Given the description of an element on the screen output the (x, y) to click on. 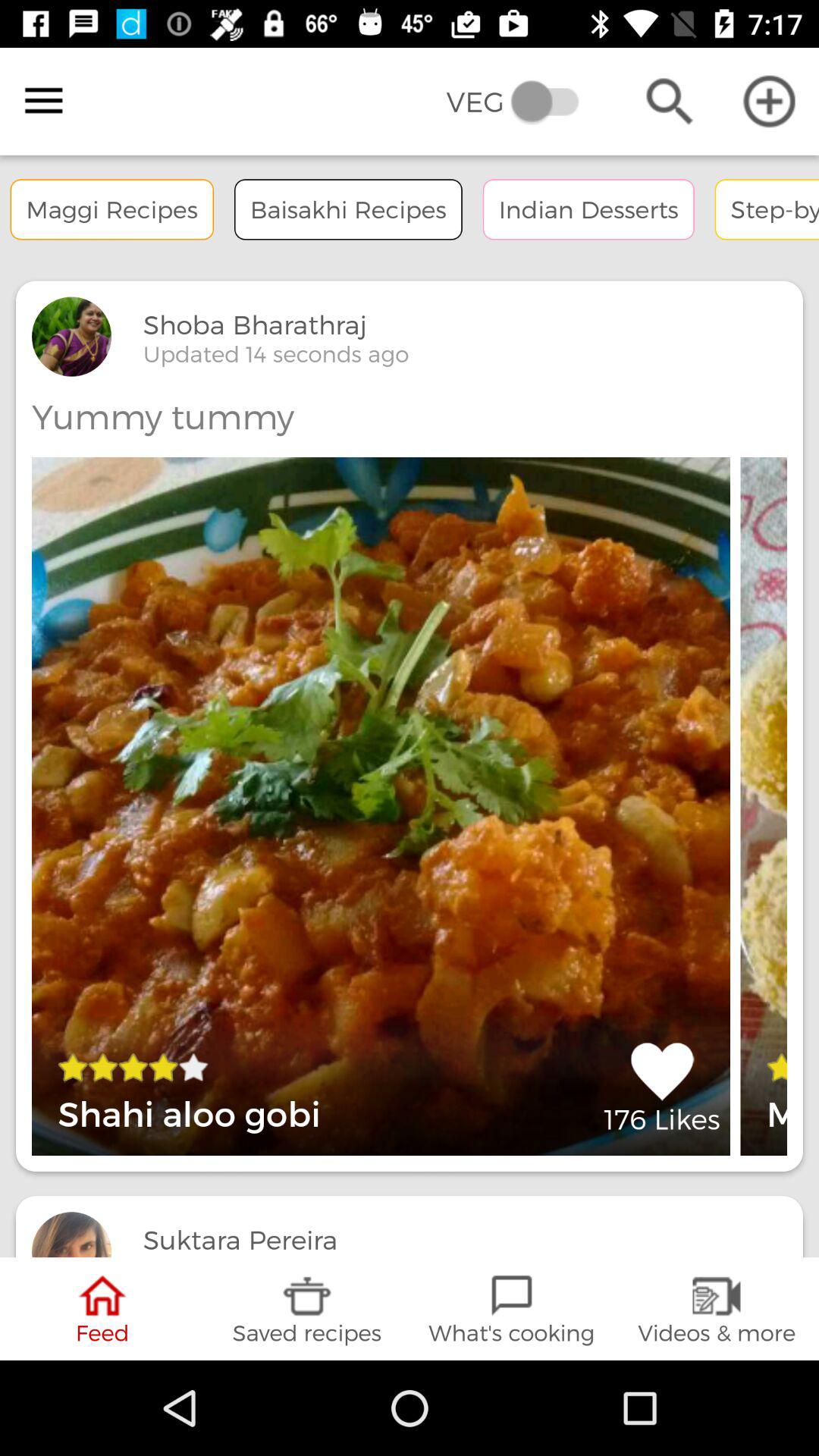
click on like symbol (662, 1088)
icon before suktara pereira text (71, 1234)
choose the box after the feed box (306, 1308)
option right to the text maggi recipes (348, 209)
click on switch button with text veg at top (522, 101)
select the text which is below shoba bharathraj (275, 354)
